Given the description of an element on the screen output the (x, y) to click on. 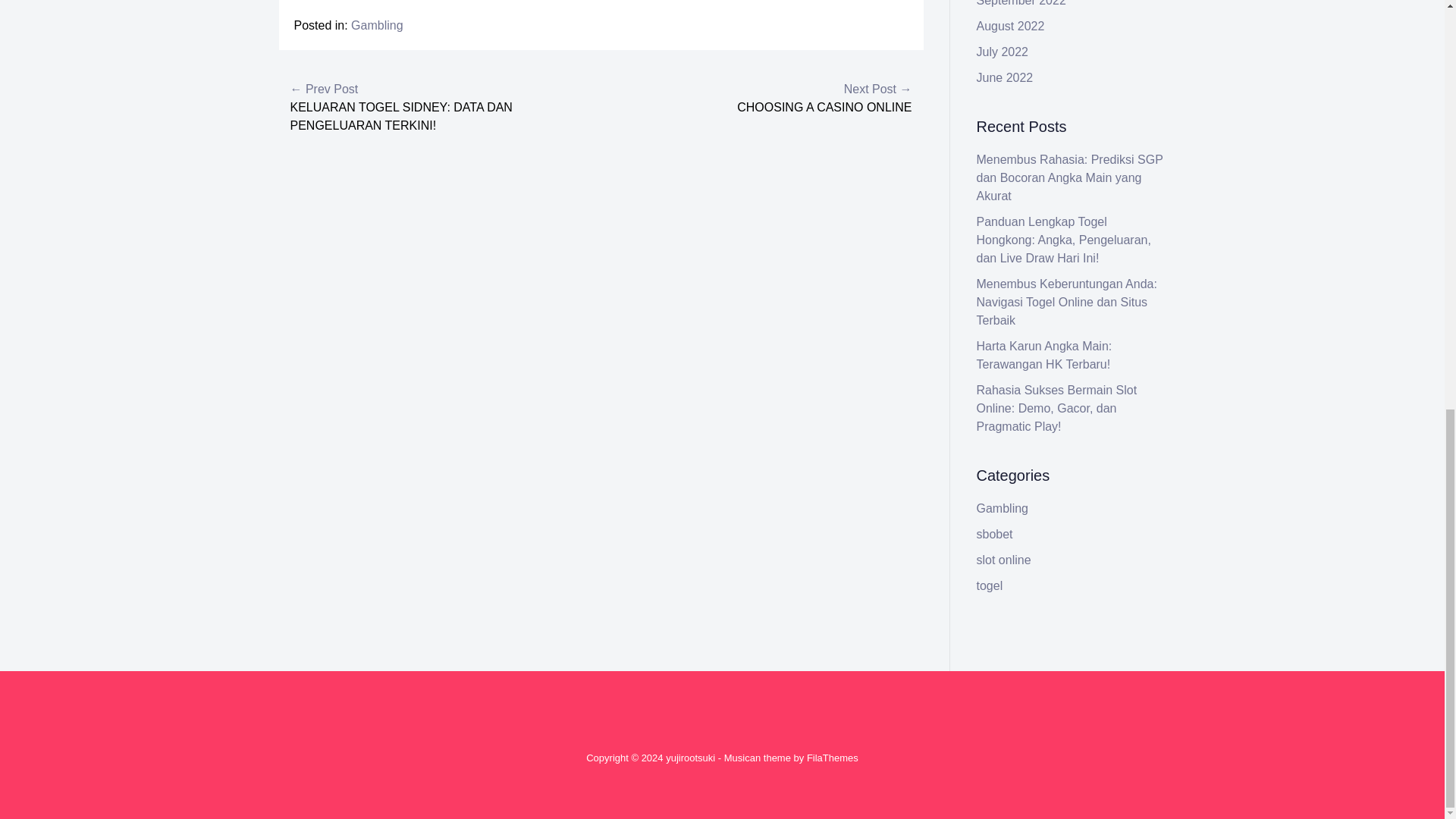
July 2022 (1002, 51)
September 2022 (1020, 3)
August 2022 (1010, 25)
Harta Karun Angka Main: Terawangan HK Terbaru! (1044, 355)
yujirootsuki (689, 757)
June 2022 (1004, 77)
Gambling (376, 24)
